Given the description of an element on the screen output the (x, y) to click on. 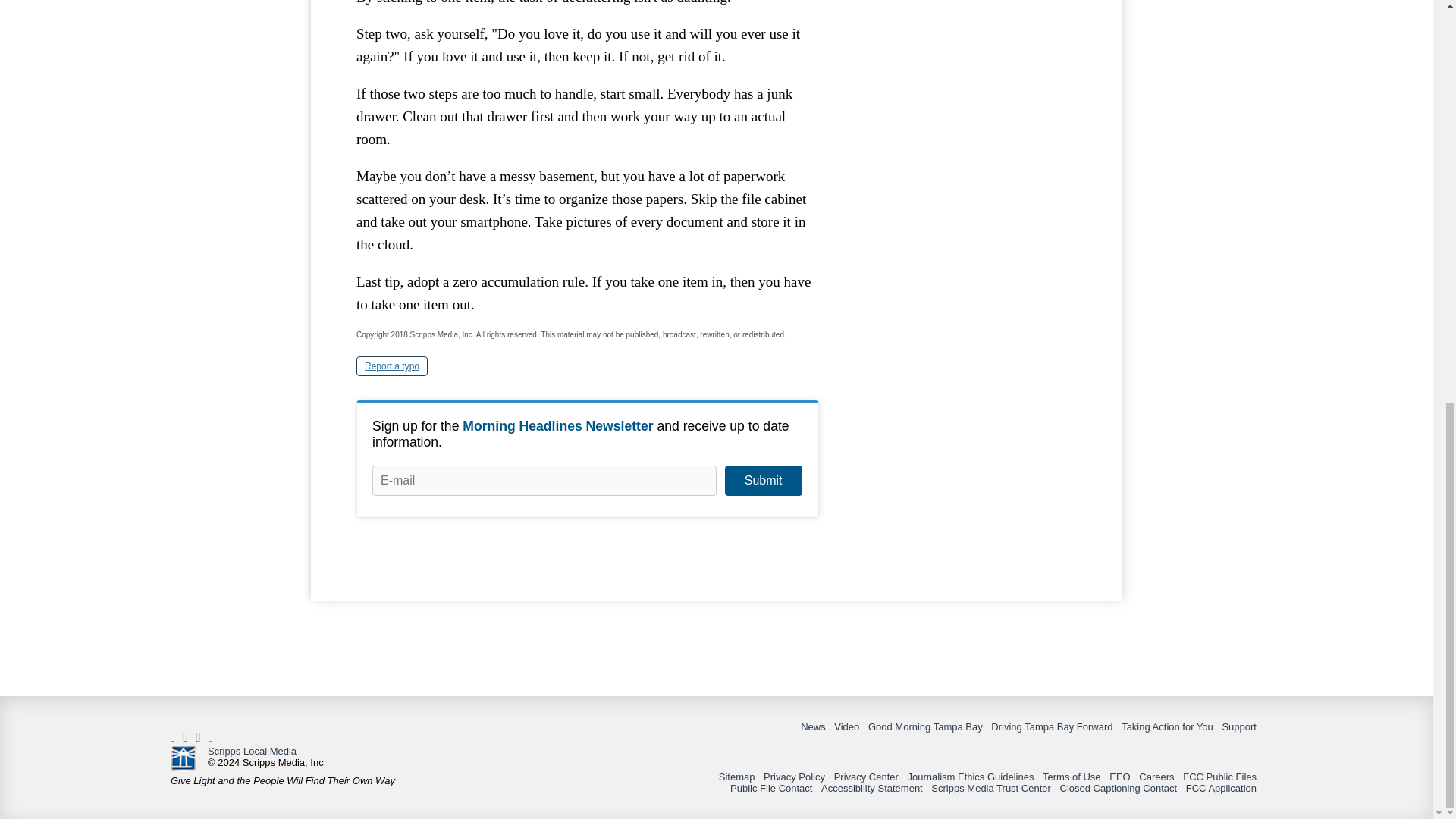
Submit (763, 481)
